Given the description of an element on the screen output the (x, y) to click on. 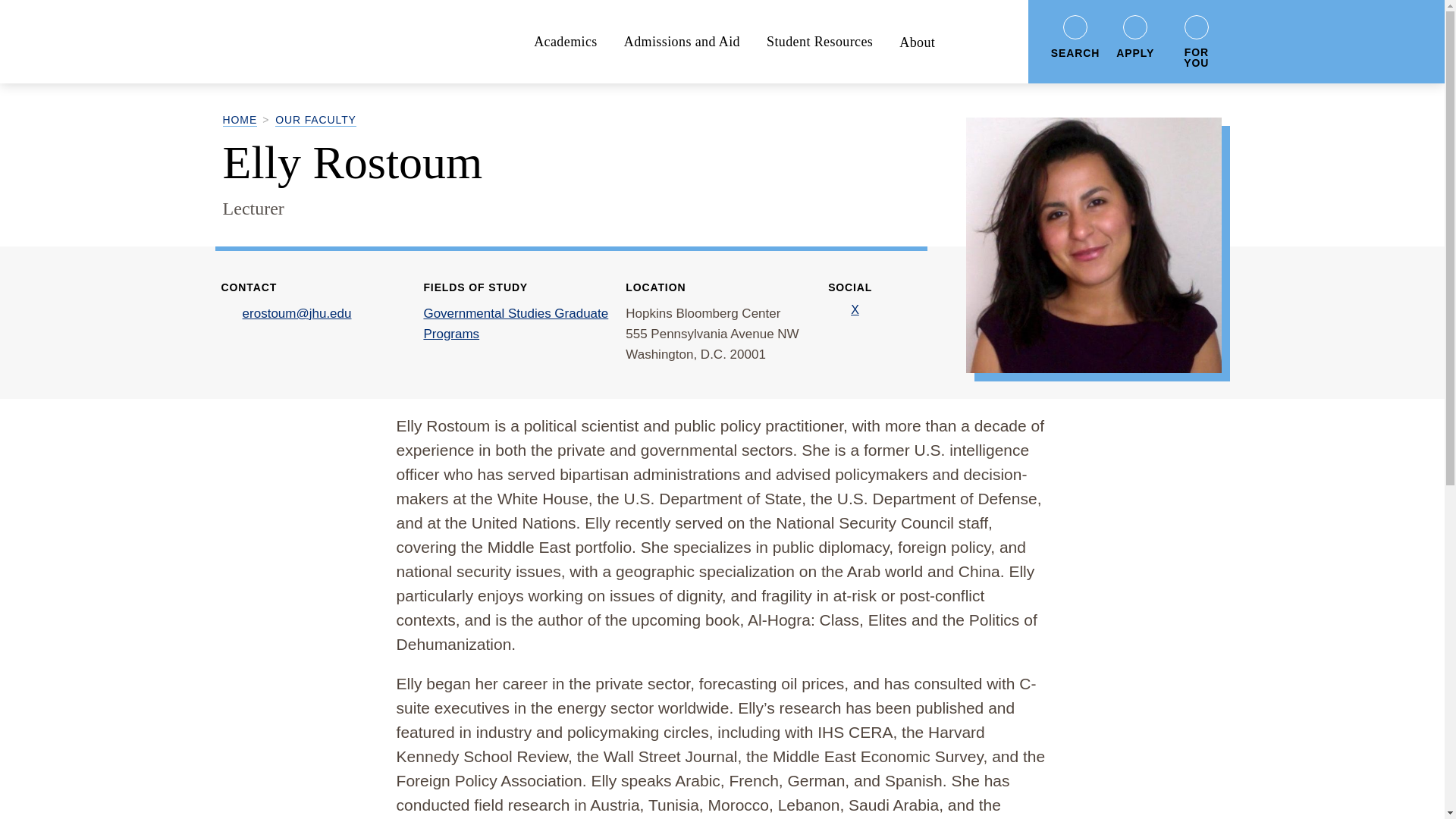
Student Resources (819, 41)
Johns Hopkins Advanced Academic Programs (331, 41)
Academics (565, 41)
About (916, 41)
Admissions and Aid (681, 41)
